Given the description of an element on the screen output the (x, y) to click on. 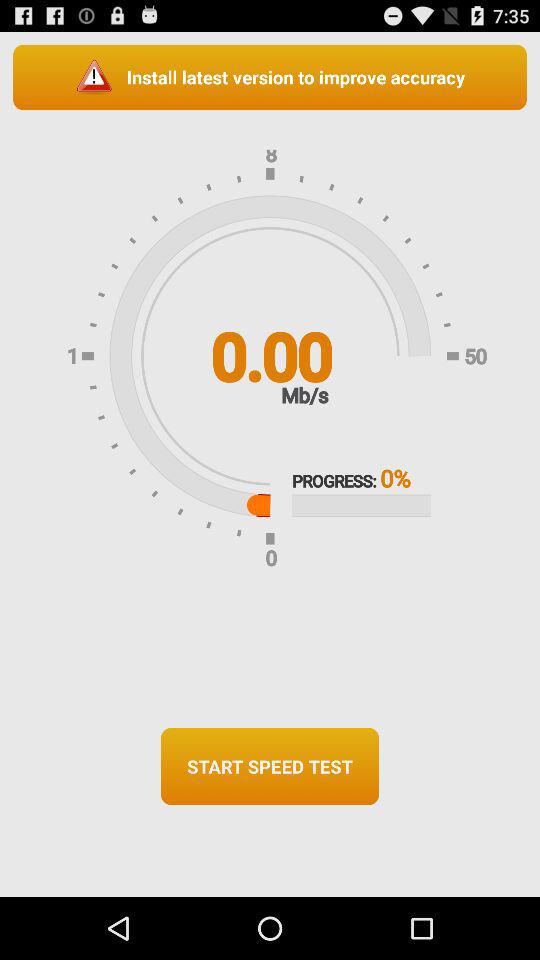
swipe to the start speed test icon (269, 766)
